Given the description of an element on the screen output the (x, y) to click on. 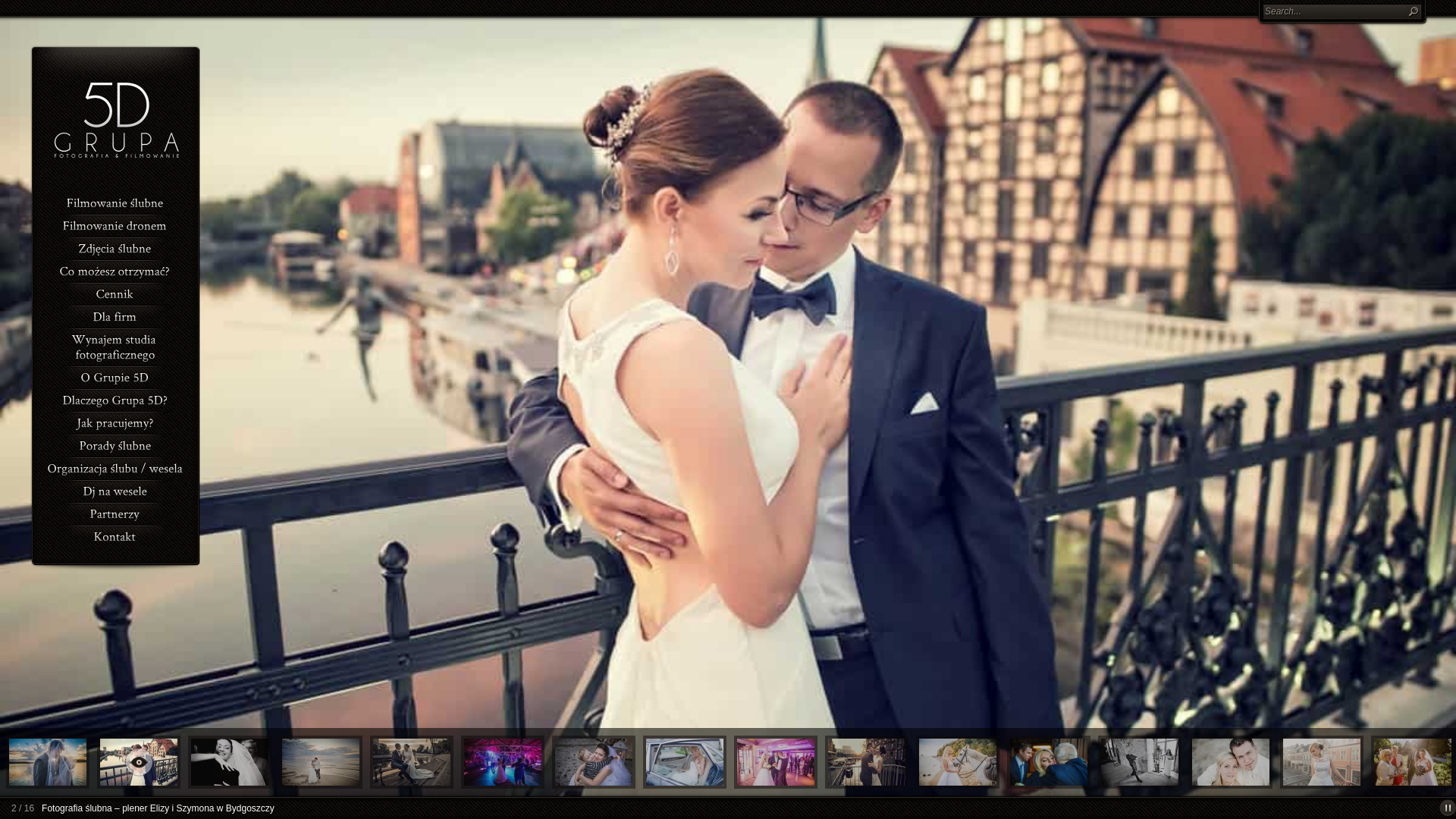
Kontakt do Grupy 5D w Bydgoszczy Element type: hover (115, 535)
Dj na wesele Bydgoszcz Element type: hover (115, 489)
